Given the description of an element on the screen output the (x, y) to click on. 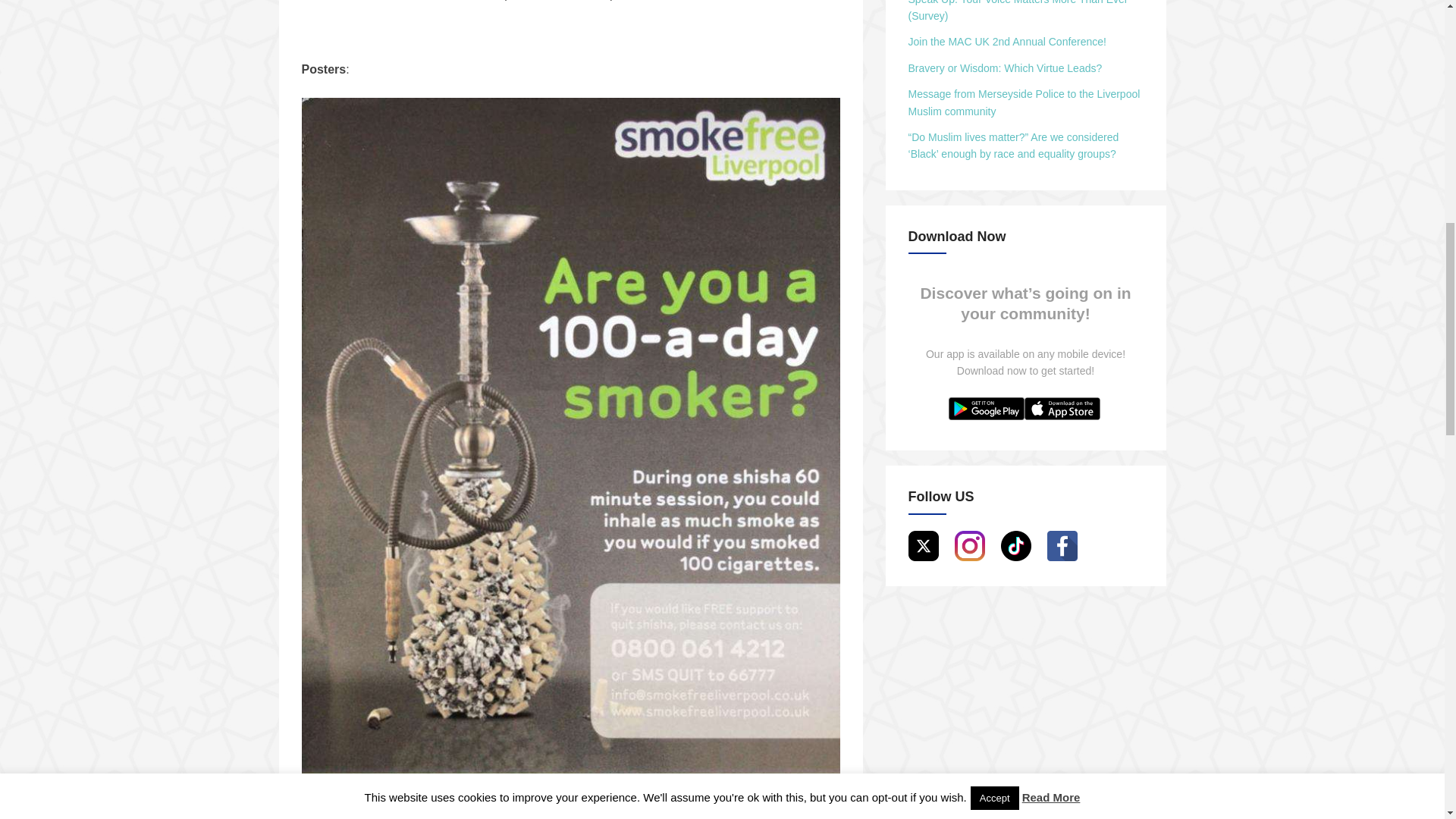
Join the MAC UK 2nd Annual Conference! (1007, 41)
Bravery or Wisdom: Which Virtue Leads? (1005, 68)
